Given the description of an element on the screen output the (x, y) to click on. 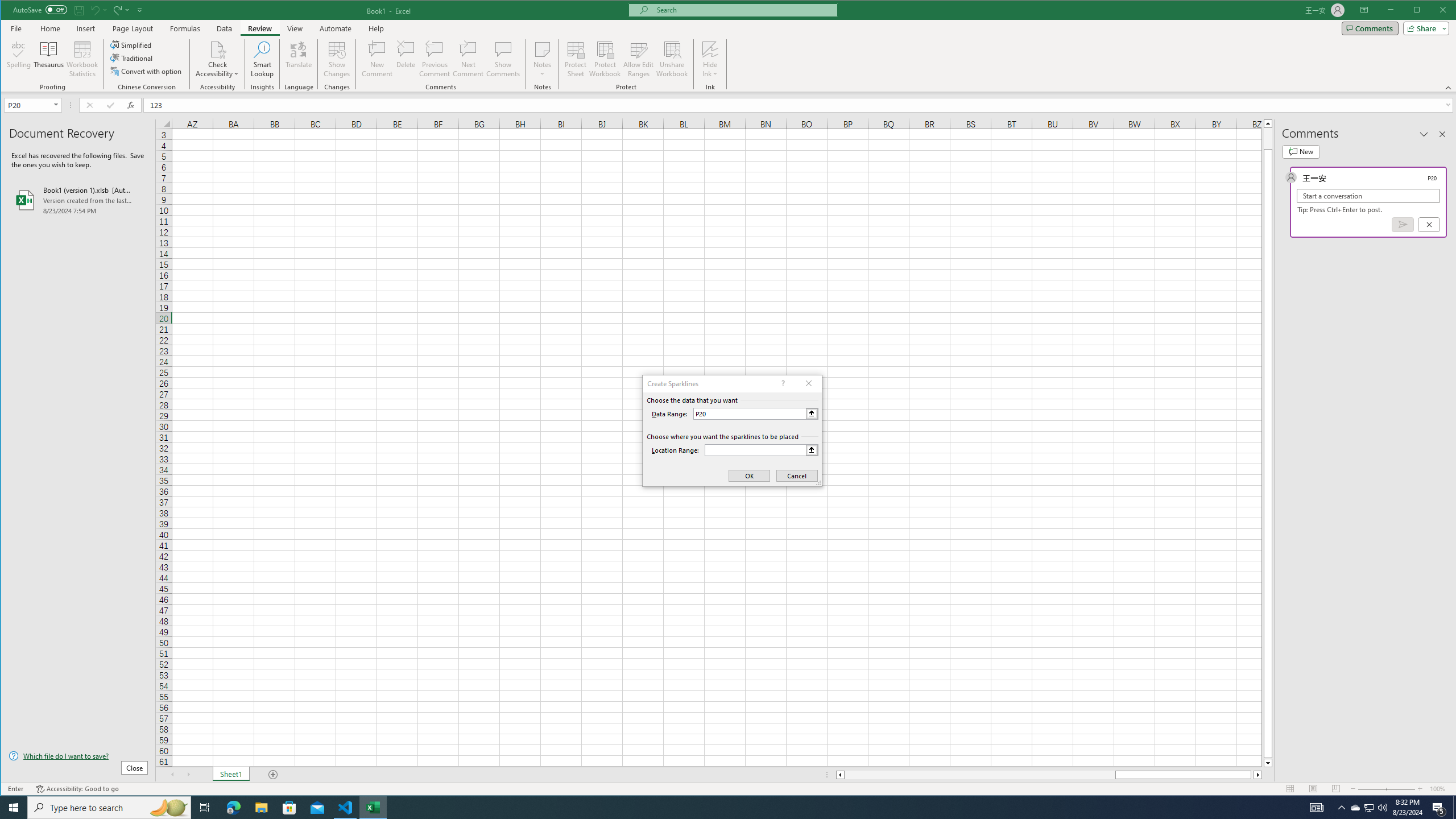
New Comment (377, 59)
Check Accessibility (217, 48)
Insert (85, 28)
Scroll Left (172, 774)
Home (50, 28)
Customize Quick Access Toolbar (140, 9)
Comments (1369, 28)
Page right (1251, 774)
Scroll Right (188, 774)
Microsoft search (742, 10)
Notes (541, 59)
Data (224, 28)
Post comment (Ctrl + Enter) (1402, 224)
